Given the description of an element on the screen output the (x, y) to click on. 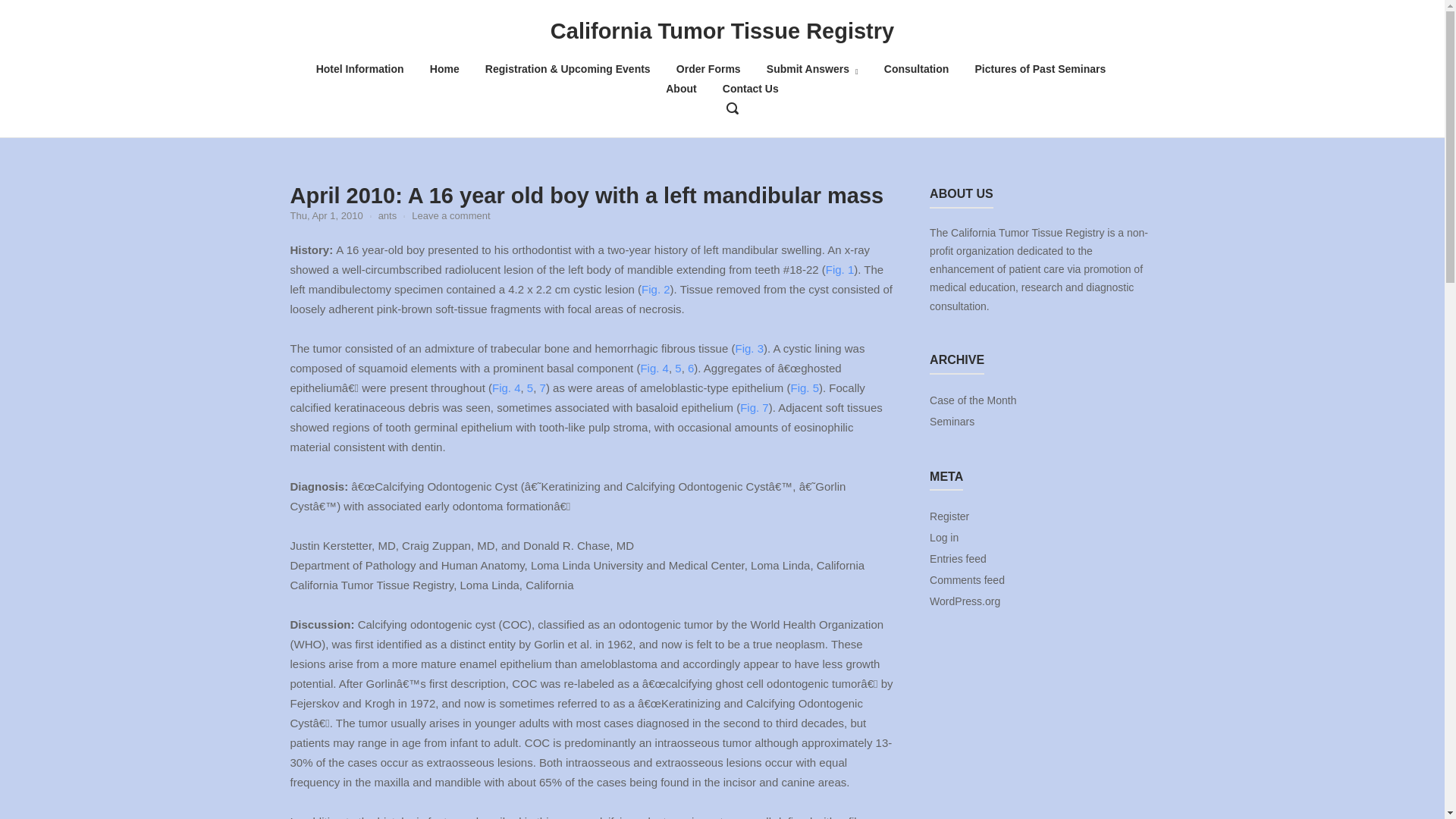
Order Forms (709, 69)
Fig. 4 (506, 387)
Fig. 2 (655, 288)
Submit Answers (813, 69)
Pictures of Past Seminars (1040, 69)
Fig. 1 (839, 269)
ants (387, 215)
Fig. 4 (654, 367)
Consultation (916, 69)
Fig. 5 (804, 387)
